Given the description of an element on the screen output the (x, y) to click on. 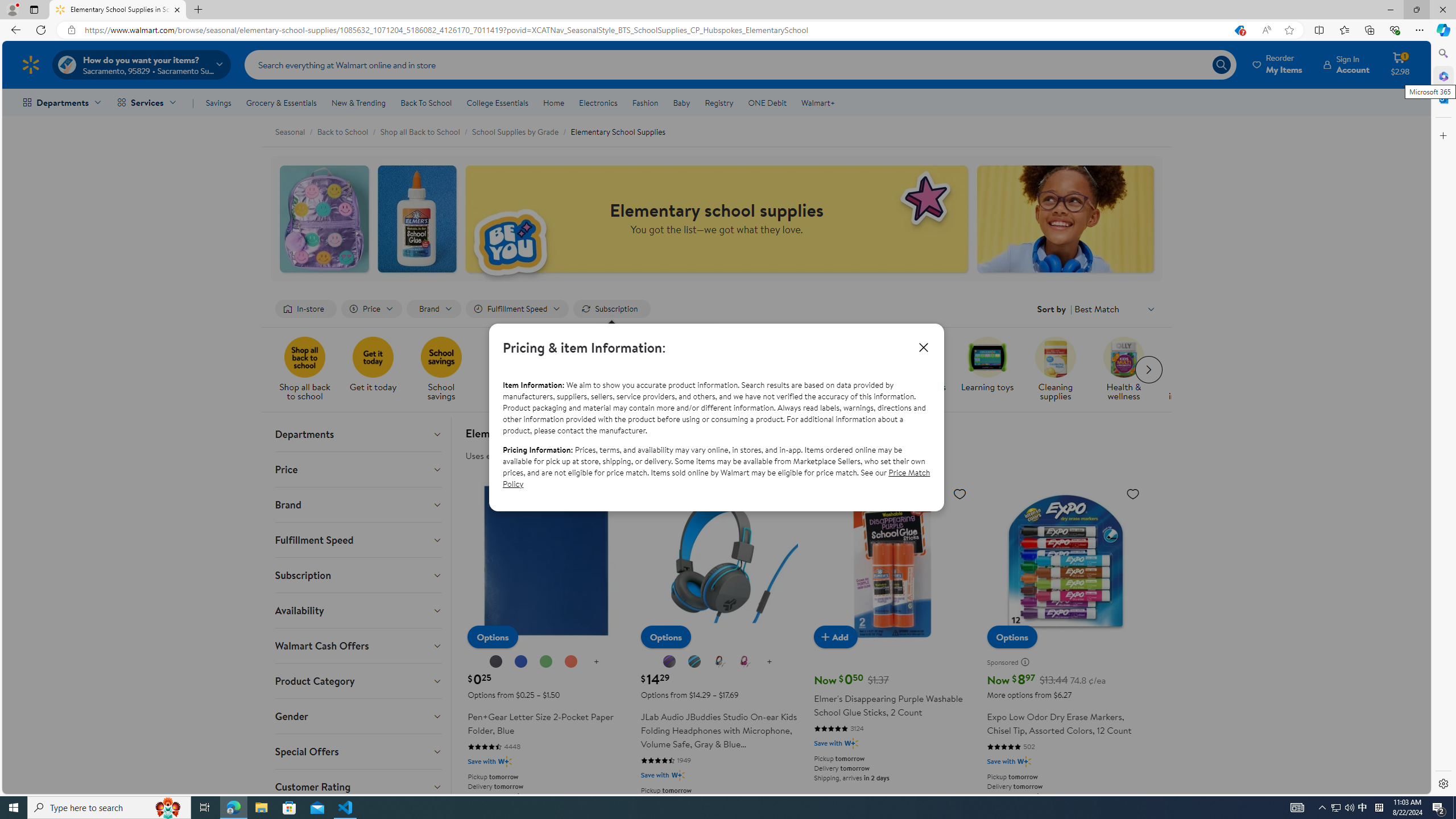
Close dialog (923, 346)
